Given the description of an element on the screen output the (x, y) to click on. 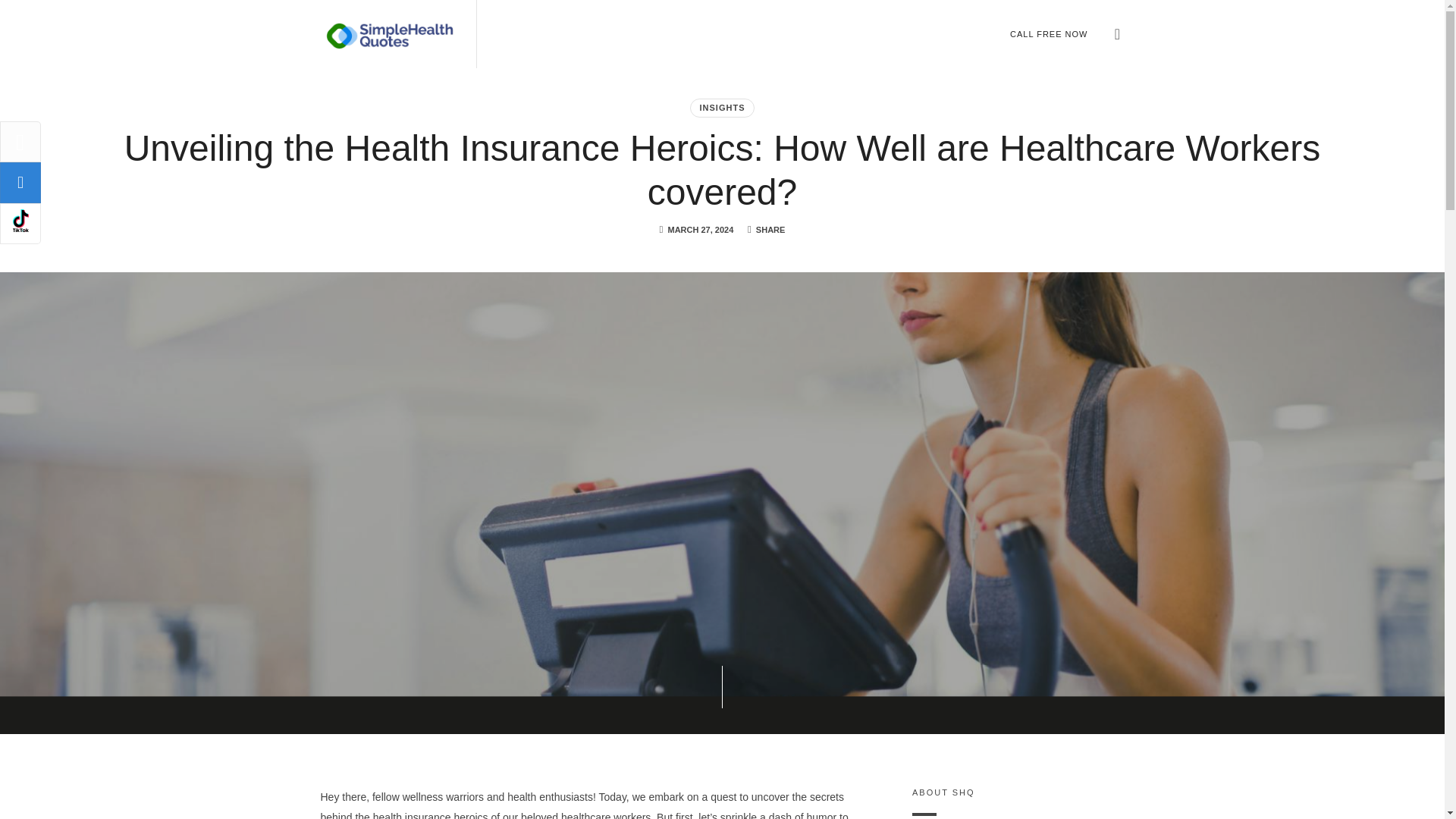
CALL FREE NOW (1048, 33)
MARCH 27, 2024 (699, 229)
Simple health quotes (389, 33)
INSIGHTS (722, 107)
